Given the description of an element on the screen output the (x, y) to click on. 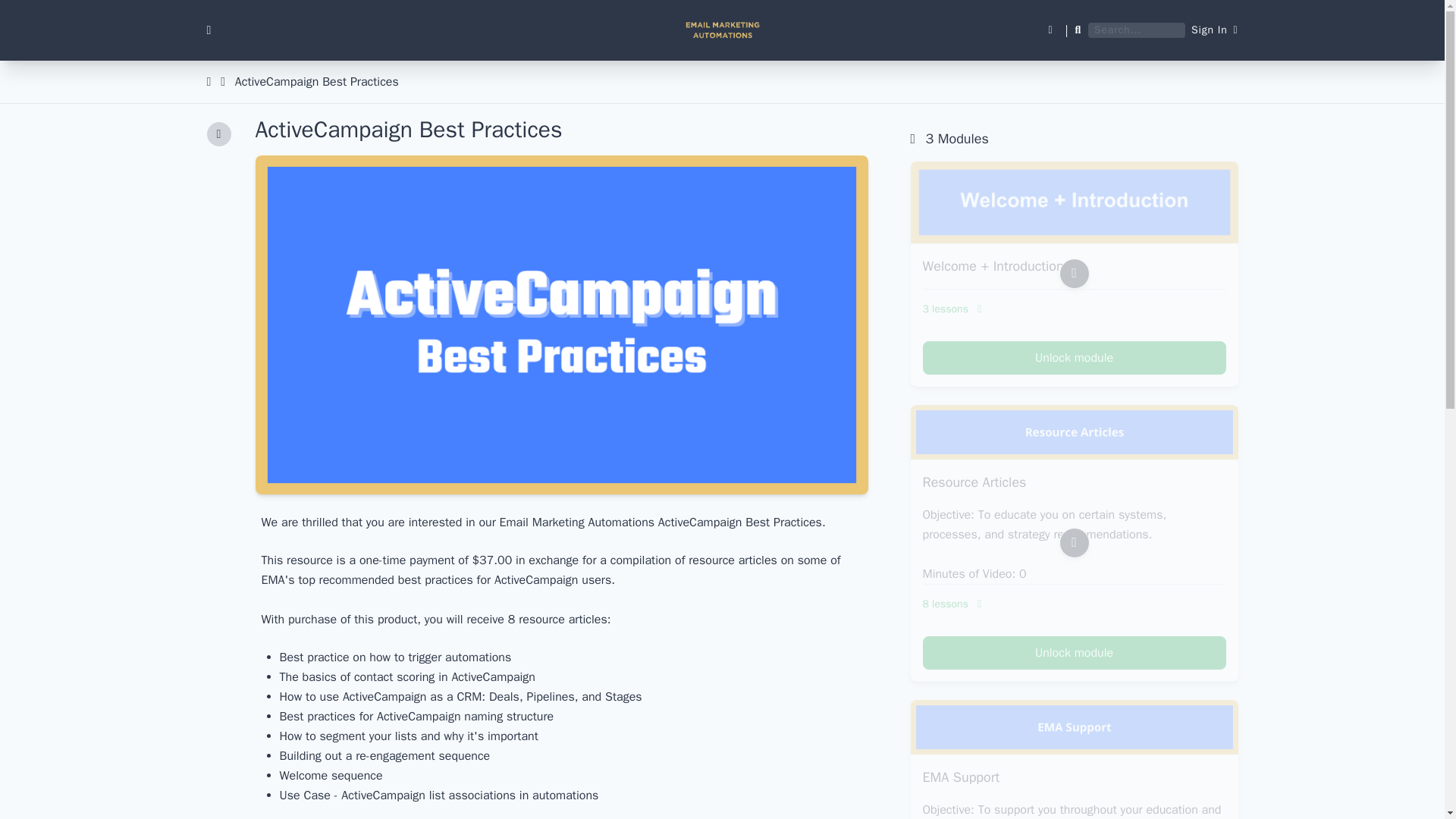
8 lessons (1074, 604)
Unlock module (1074, 357)
Sign In (1214, 29)
Unlock module (1074, 652)
ActiveCampaign Best Practices (316, 81)
3 lessons (1074, 309)
search (20, 7)
